Given the description of an element on the screen output the (x, y) to click on. 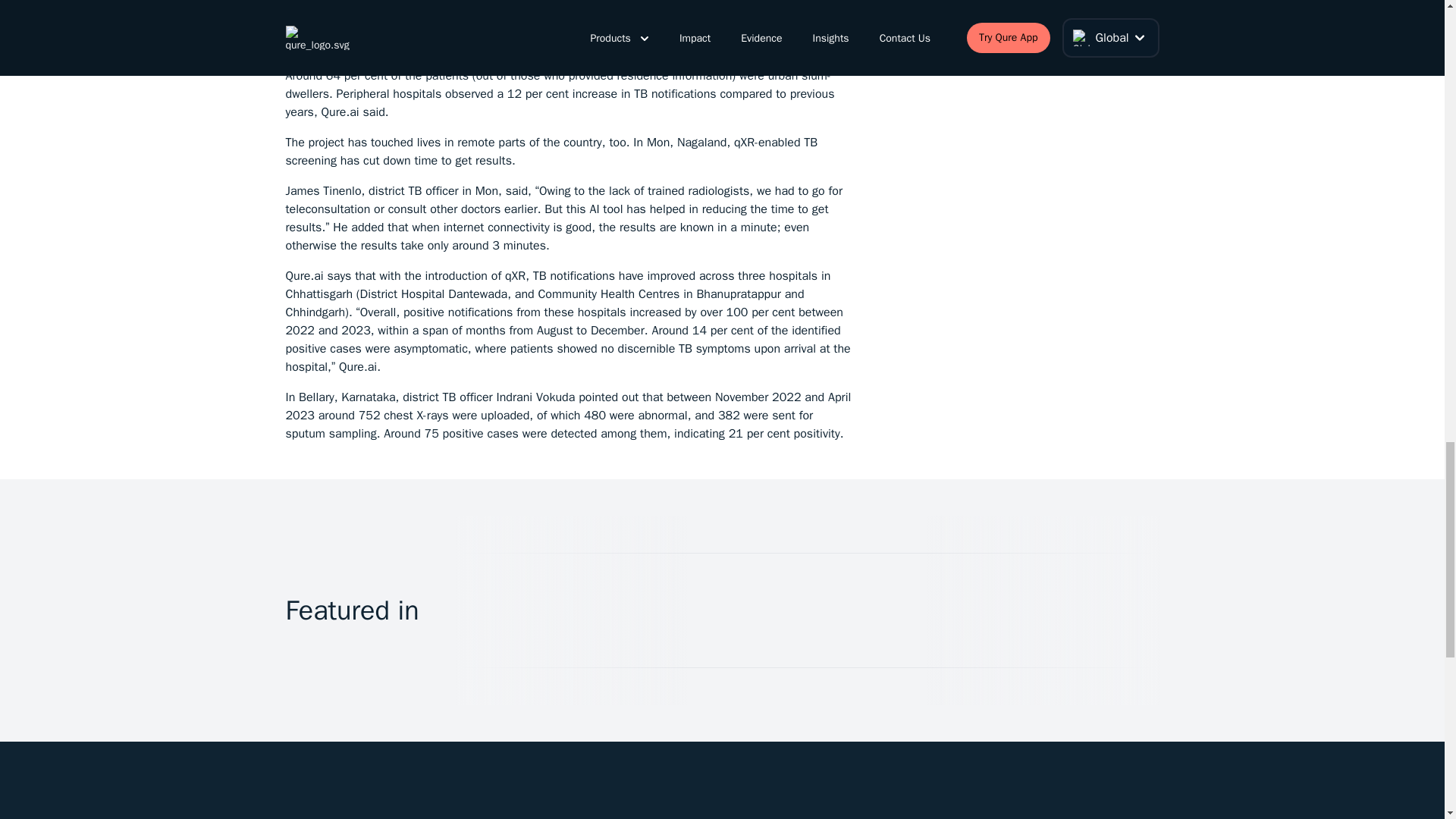
Featured in (352, 610)
